Given the description of an element on the screen output the (x, y) to click on. 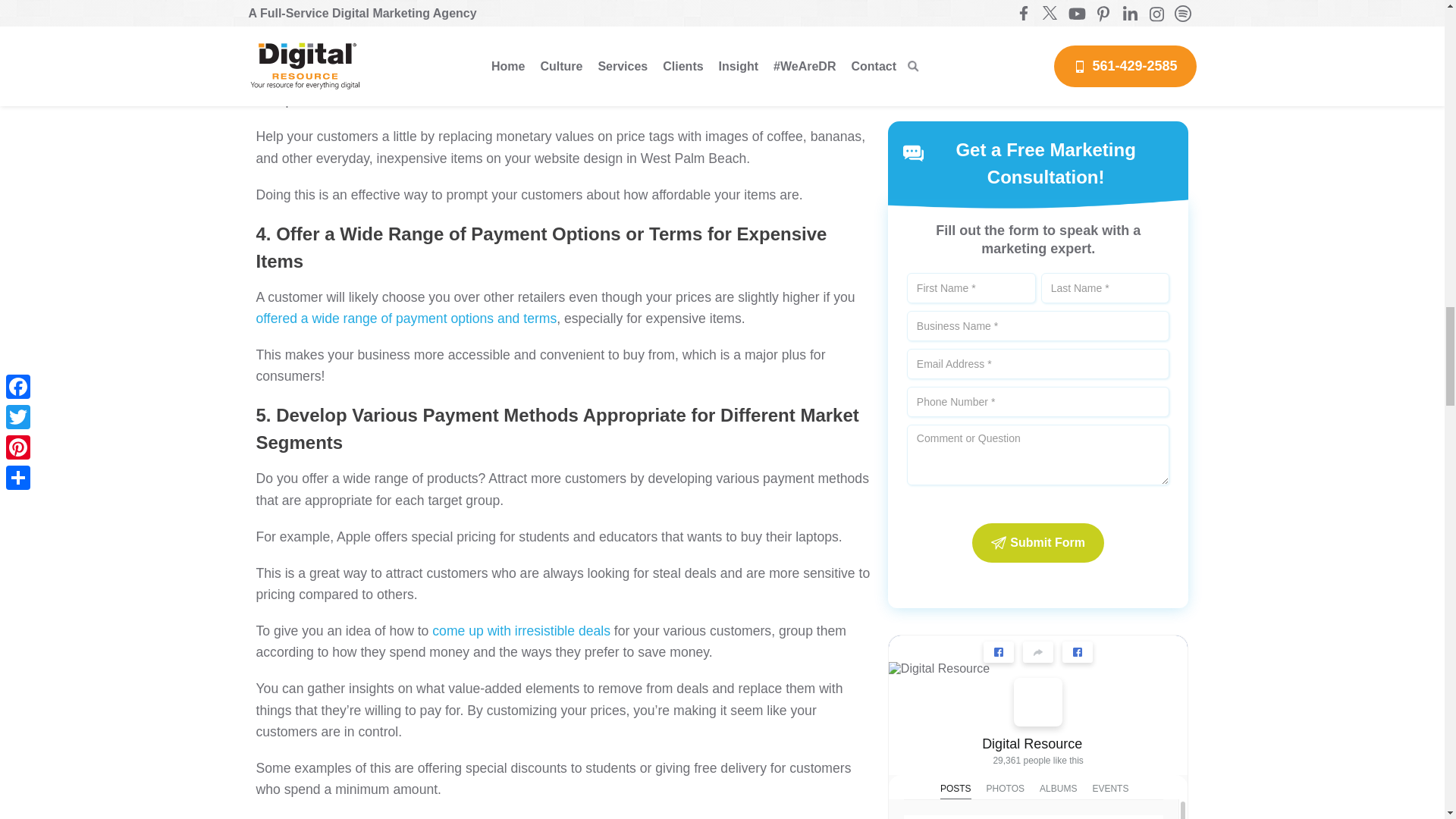
Like: 7 (921, 398)
Like: 4 (921, 724)
